Given the description of an element on the screen output the (x, y) to click on. 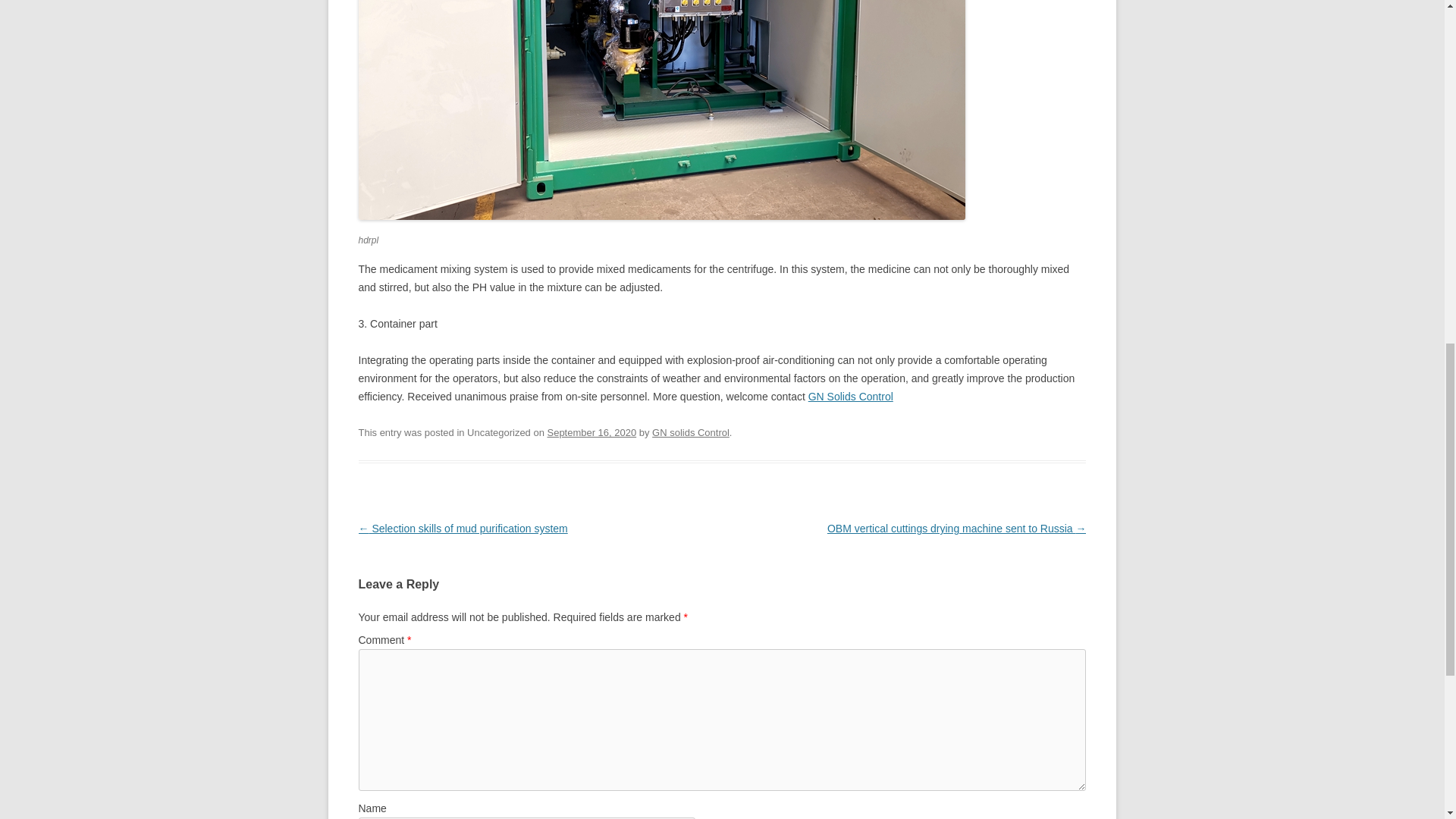
GN Solids Control (850, 396)
September 16, 2020 (592, 432)
View all posts by GN solids Control (690, 432)
8:24 pm (592, 432)
GN solids Control (690, 432)
